Given the description of an element on the screen output the (x, y) to click on. 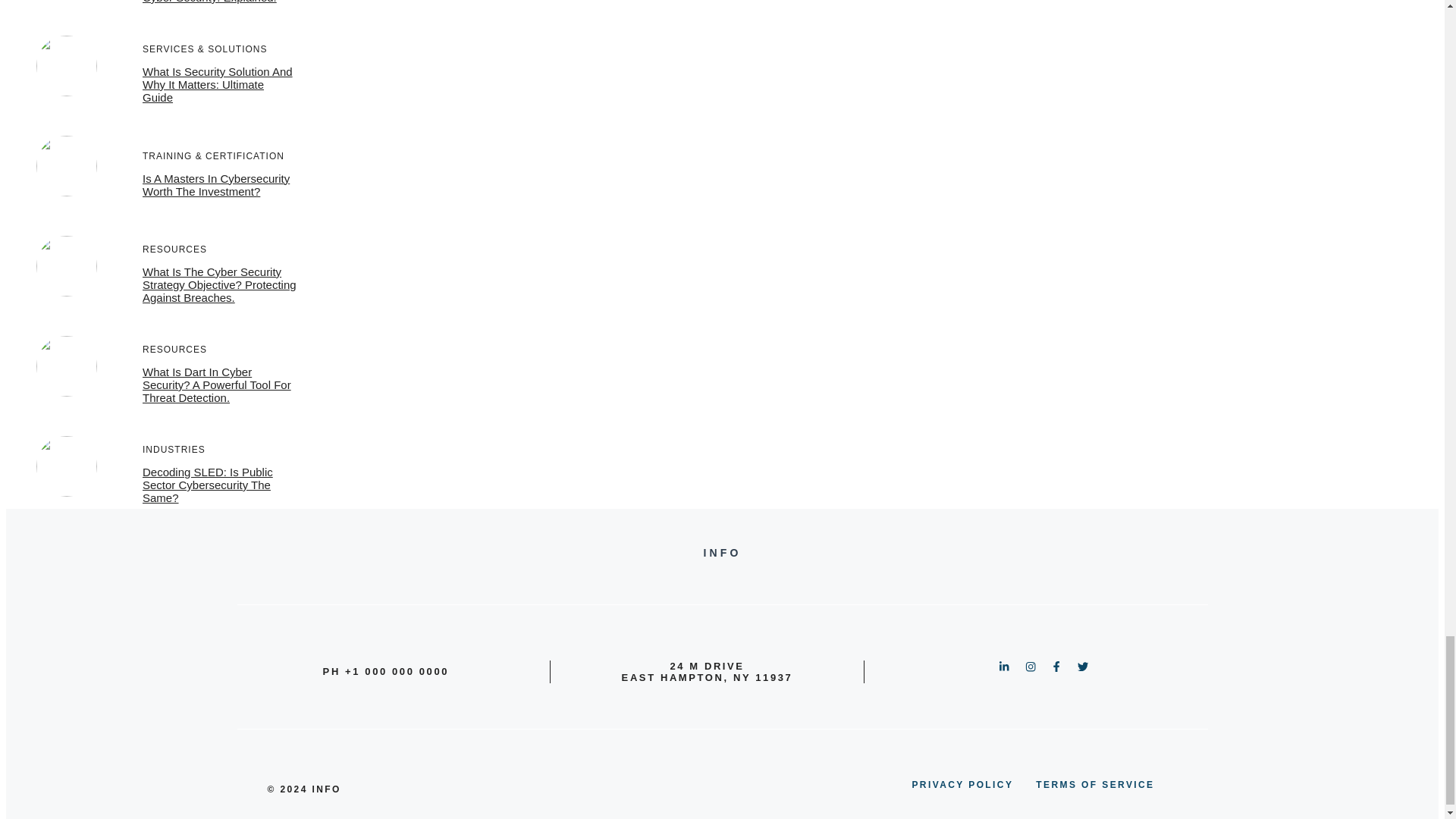
Decoding SLED: Is Public Sector Cybersecurity The Same? (207, 485)
Is A Masters In Cybersecurity Worth The Investment? (215, 184)
PRIVACY POLICY (962, 784)
What Is Security Solution And Why It Matters: Ultimate Guide (217, 84)
TERMS OF SERVICE (1094, 784)
